Given the description of an element on the screen output the (x, y) to click on. 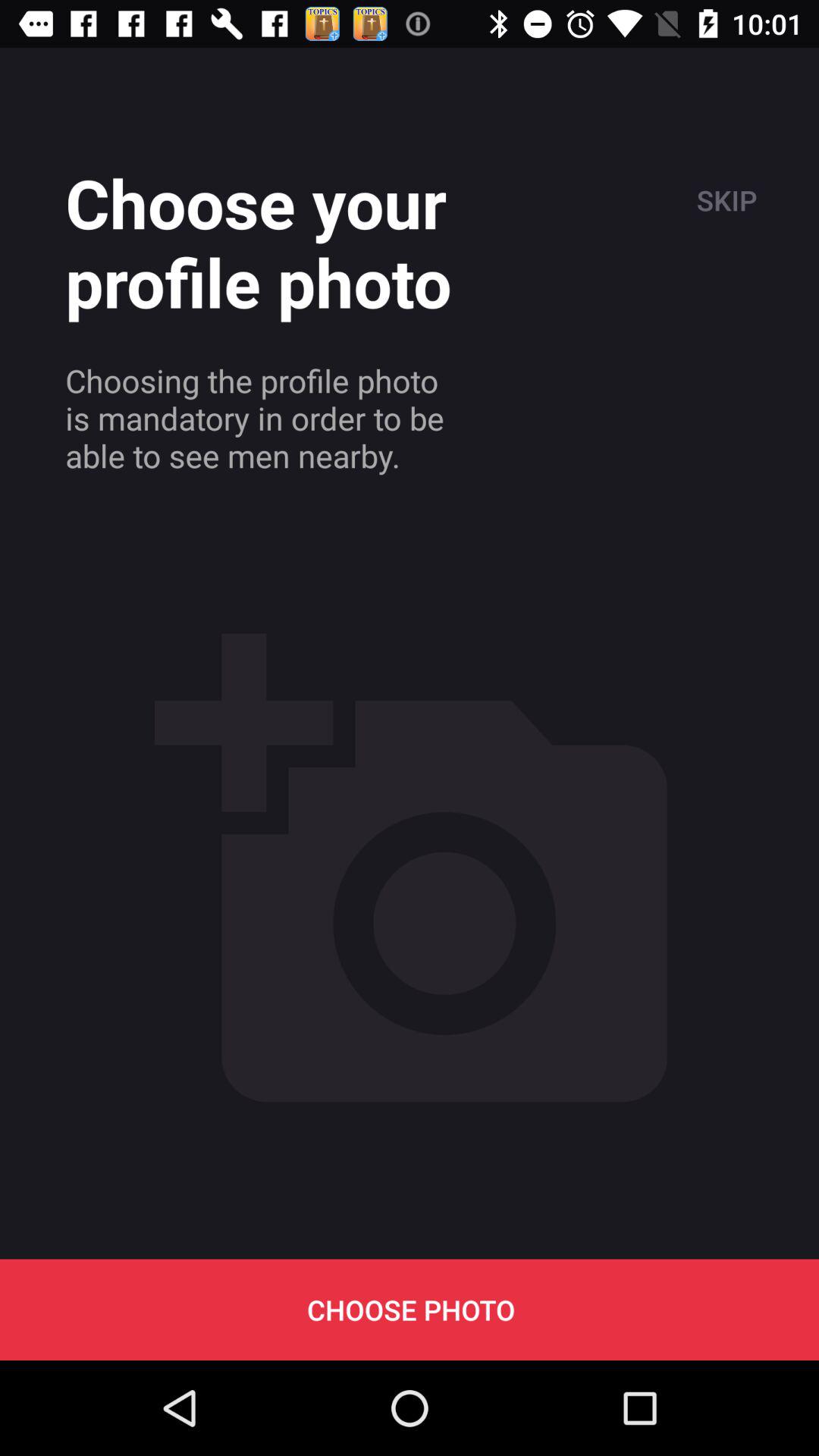
turn on the item at the top right corner (725, 199)
